Given the description of an element on the screen output the (x, y) to click on. 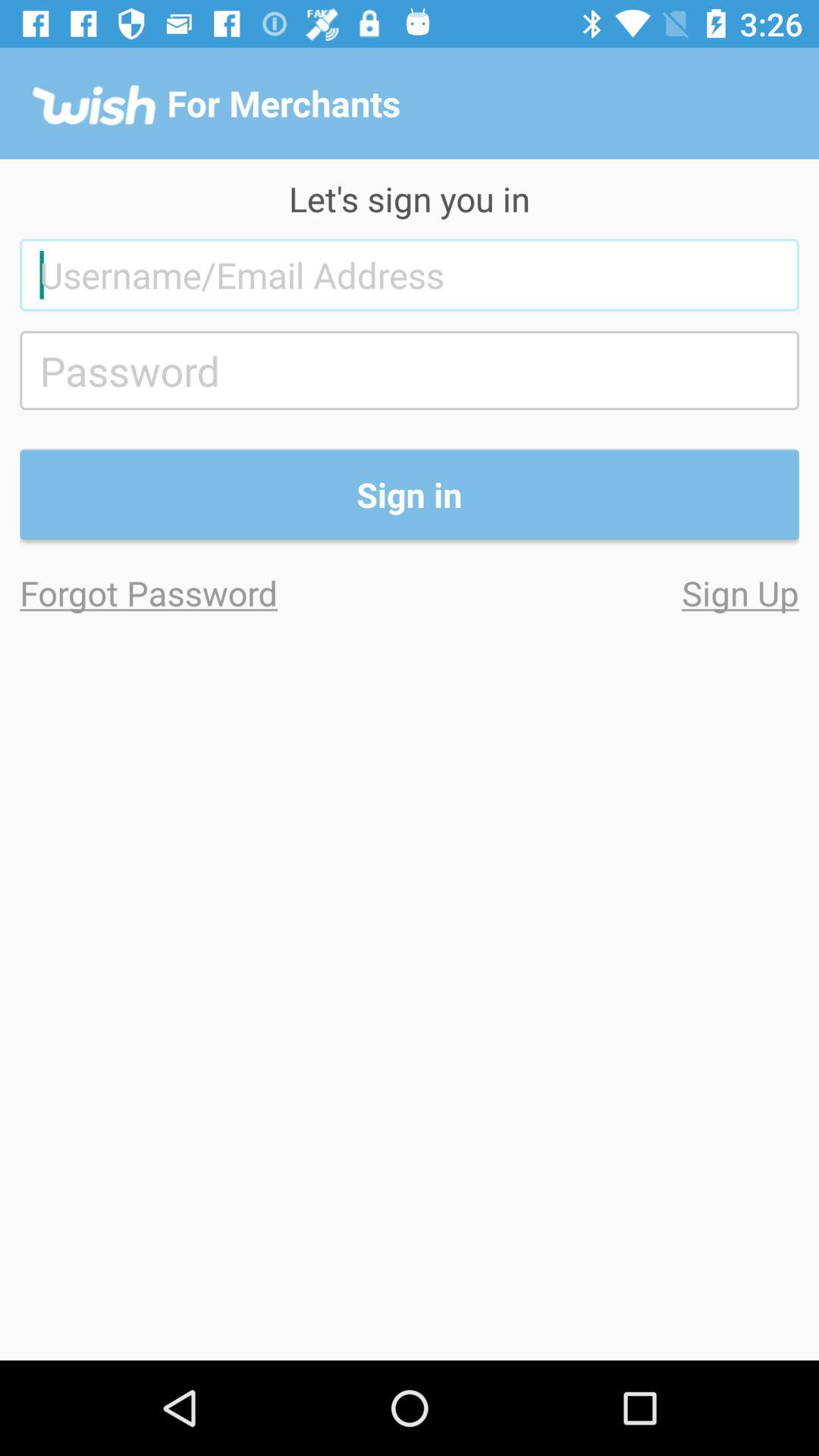
click the item on the right (604, 592)
